Given the description of an element on the screen output the (x, y) to click on. 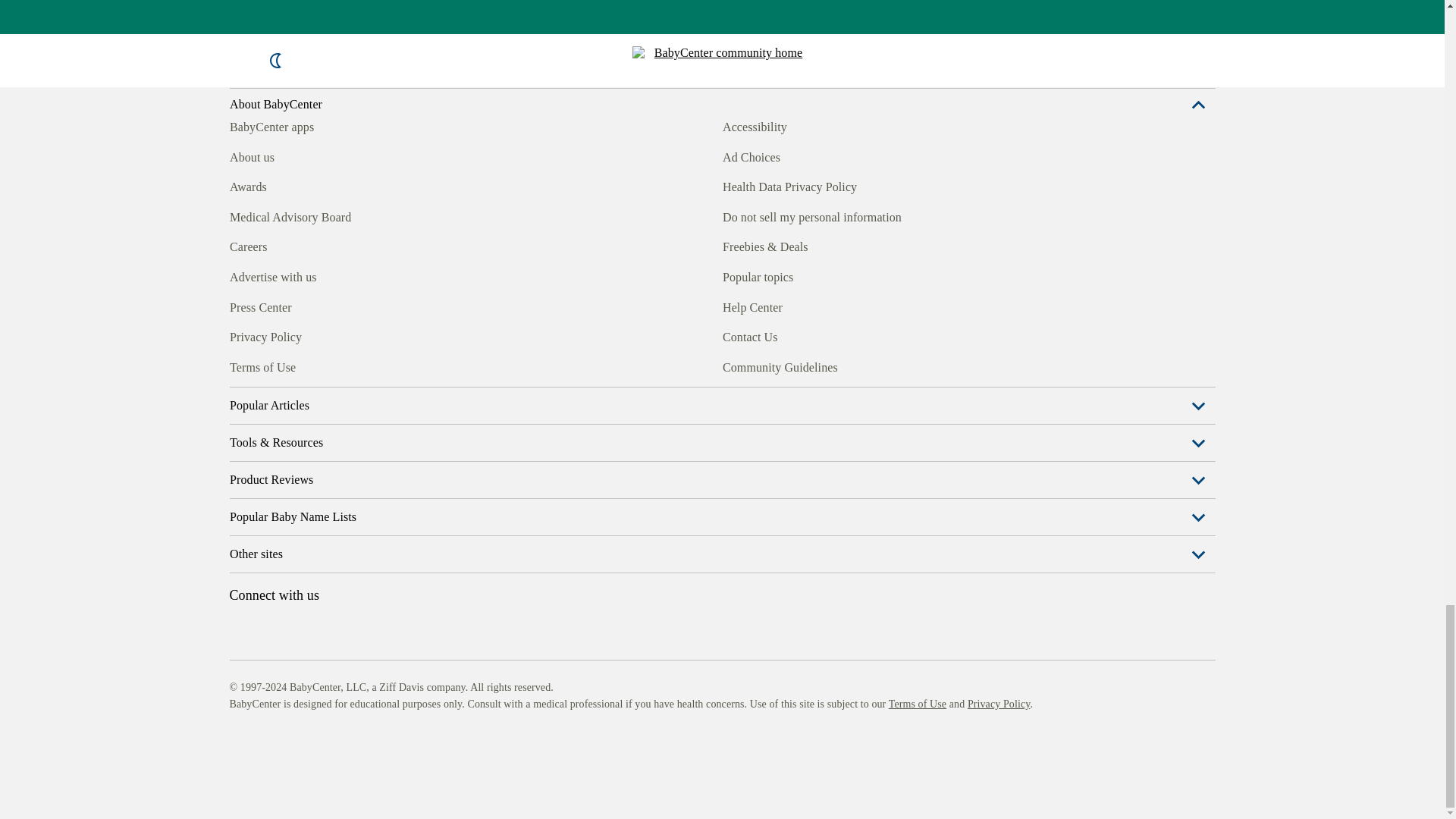
BabyCenter Facebook page (239, 364)
BabyCenter Twitter feed (379, 364)
BabyCenter Pinterest board (309, 364)
BabyCenter Instagram feed (274, 364)
BabyCenter YouTube channel (344, 364)
